Given the description of an element on the screen output the (x, y) to click on. 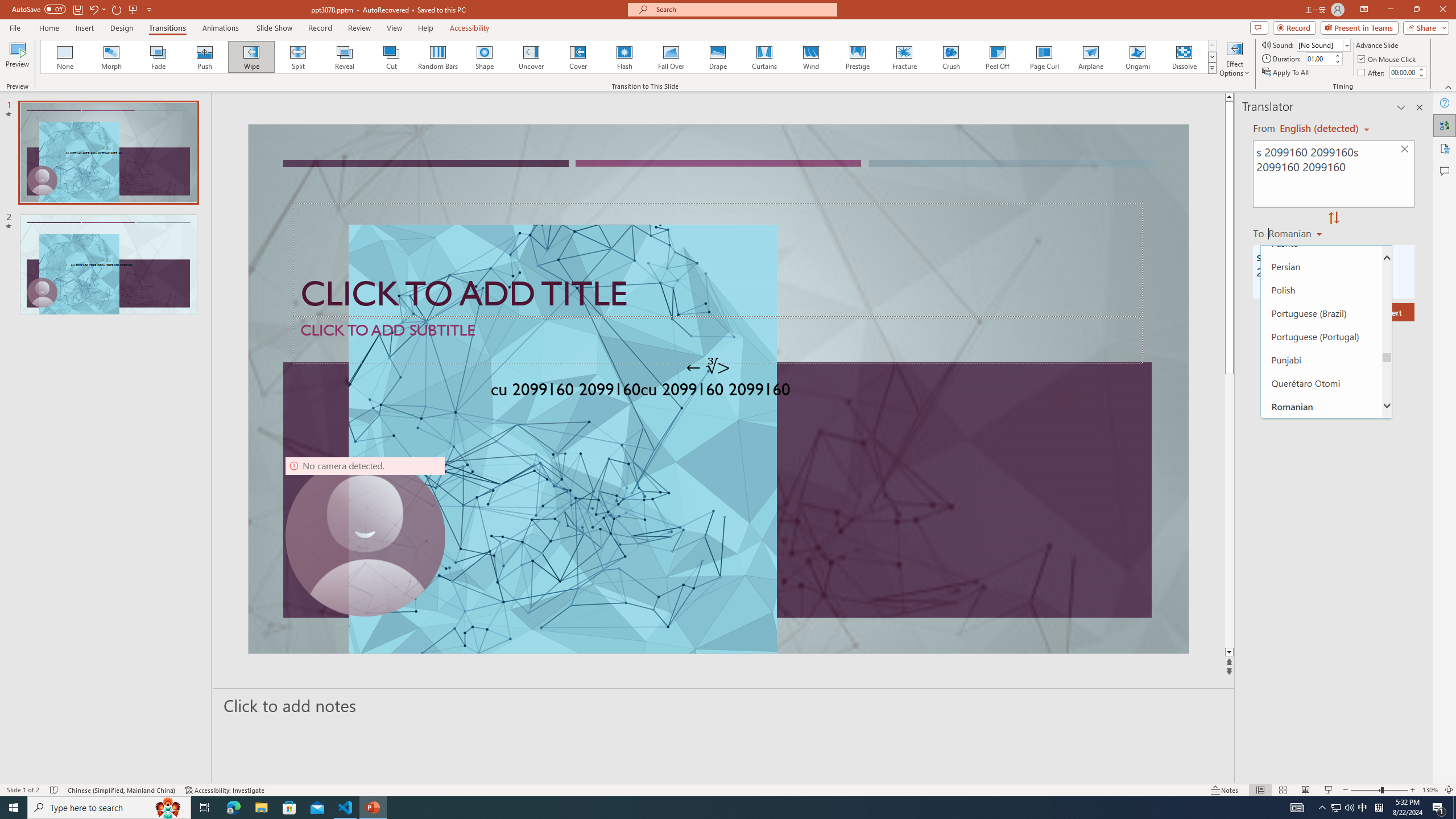
Split (298, 56)
Romanian (1296, 232)
On Mouse Click (1387, 58)
Slovenian (1320, 708)
Peel Off (997, 56)
AutomationID: AnimationTransitionGallery (628, 56)
Crush (950, 56)
